Given the description of an element on the screen output the (x, y) to click on. 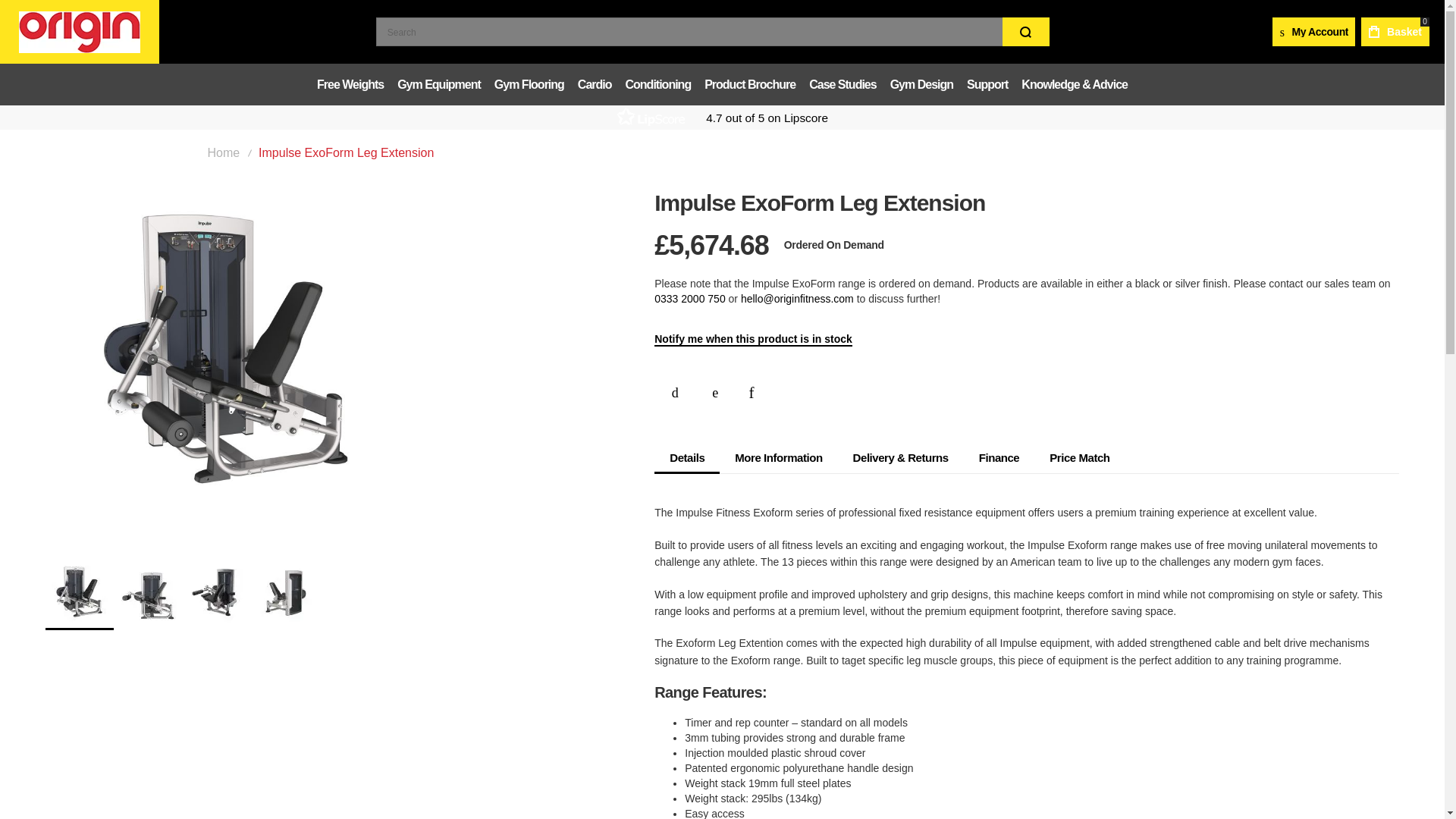
Availability (833, 245)
My Account (1313, 31)
Notify me when this product is in stock (752, 339)
Go (1026, 31)
Go to Home Page (224, 152)
Origin Fitness (78, 31)
Free Weights (350, 84)
